Given the description of an element on the screen output the (x, y) to click on. 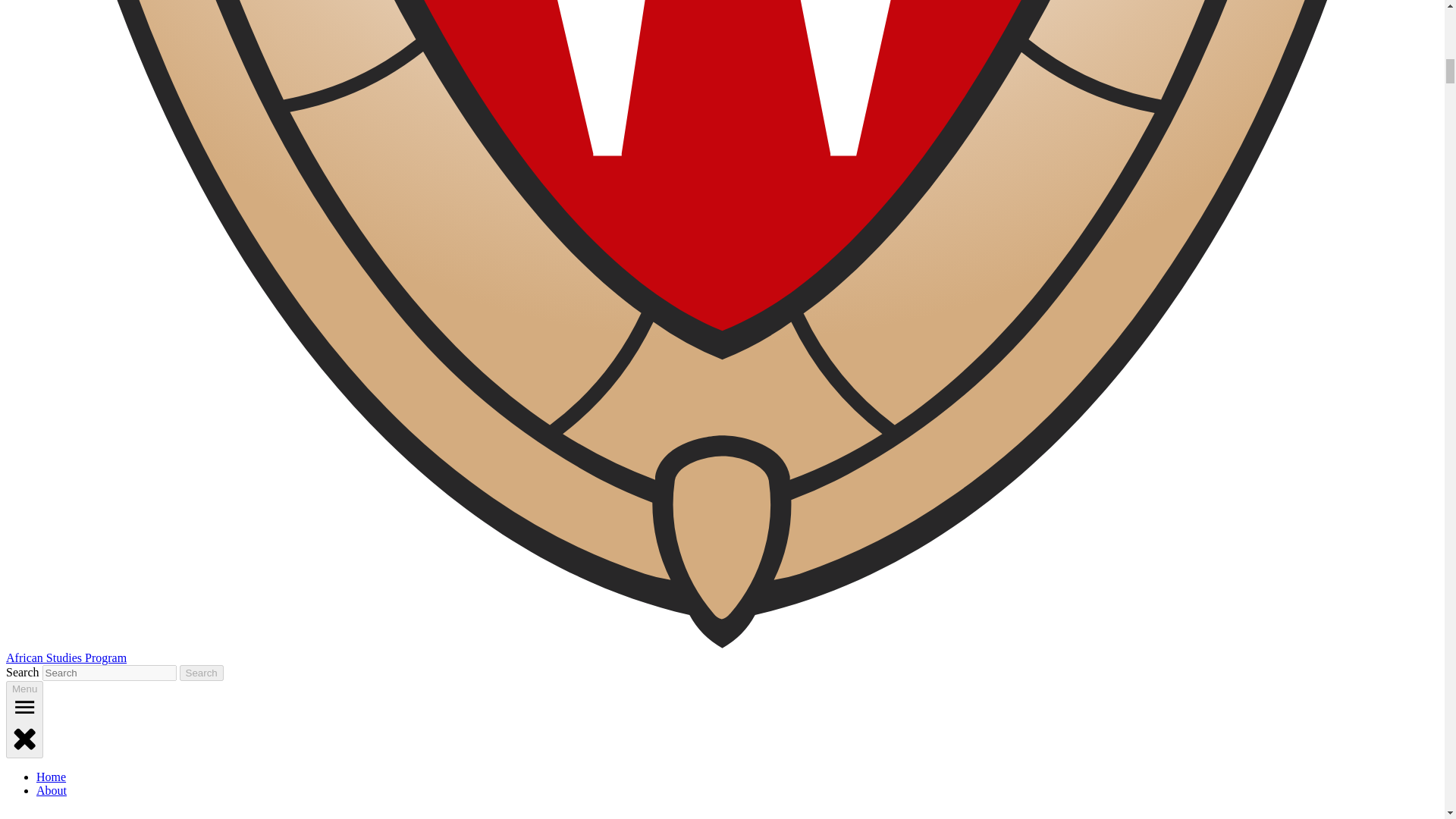
Menu open menu close (24, 719)
Search (201, 672)
Search (201, 672)
Home (50, 776)
open menu (24, 706)
African Studies Program (65, 657)
close (24, 737)
Search (201, 672)
